Given the description of an element on the screen output the (x, y) to click on. 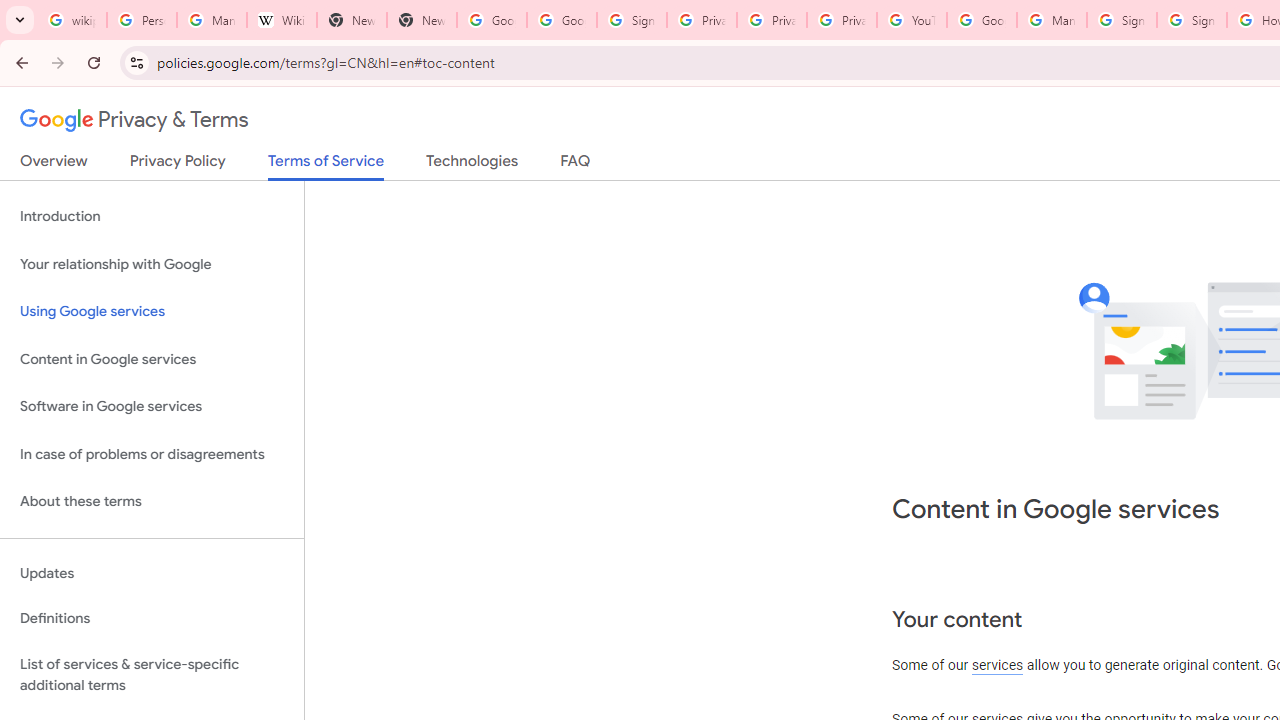
Google Account Help (982, 20)
services (997, 666)
Sign in - Google Accounts (1192, 20)
About these terms (152, 502)
